Given the description of an element on the screen output the (x, y) to click on. 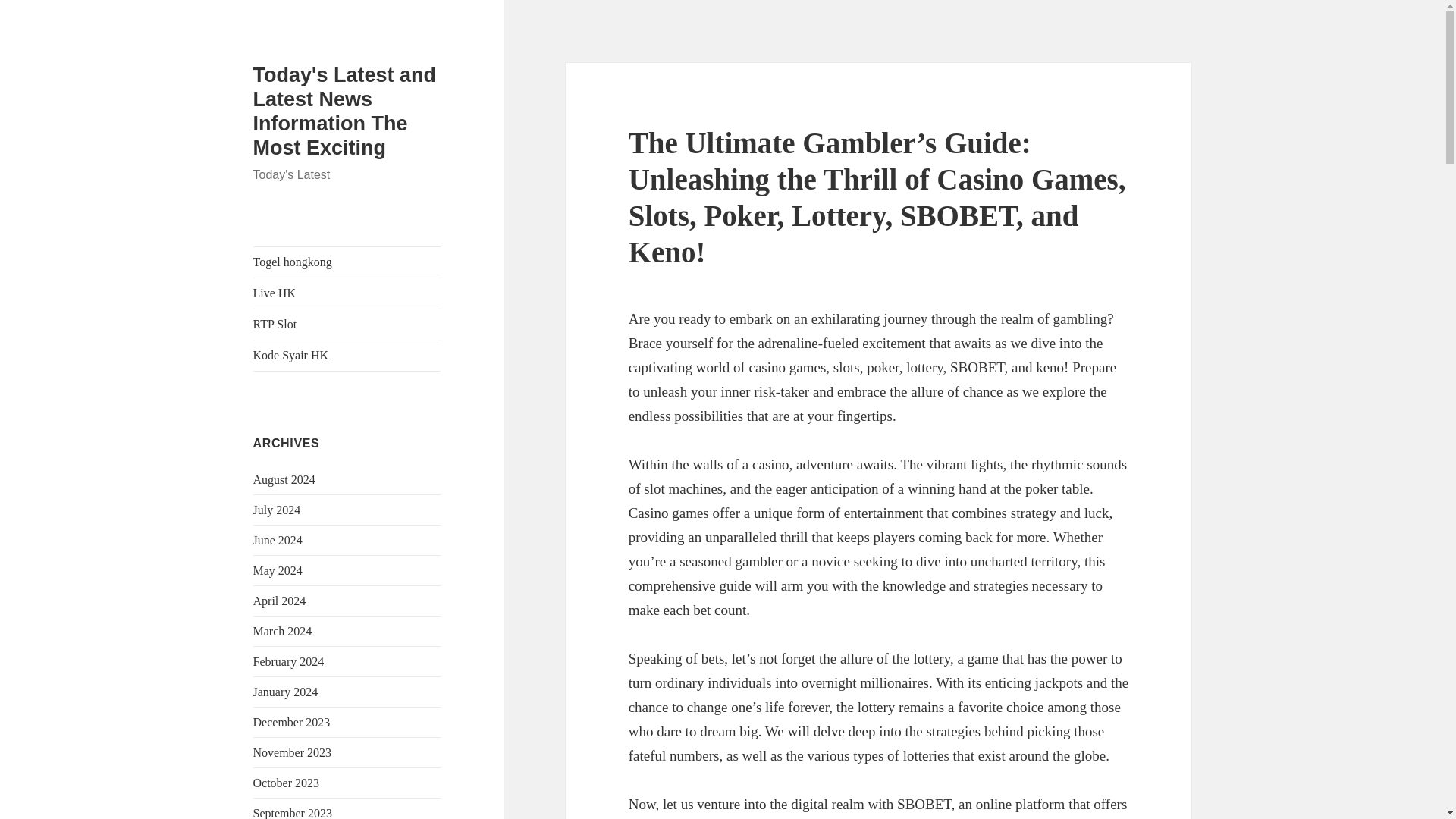
Togel hongkong (347, 262)
November 2023 (292, 752)
RTP Slot (347, 324)
Kode Syair HK (347, 355)
February 2024 (288, 661)
March 2024 (283, 631)
October 2023 (286, 782)
April 2024 (279, 600)
May 2024 (277, 570)
June 2024 (277, 540)
